Given the description of an element on the screen output the (x, y) to click on. 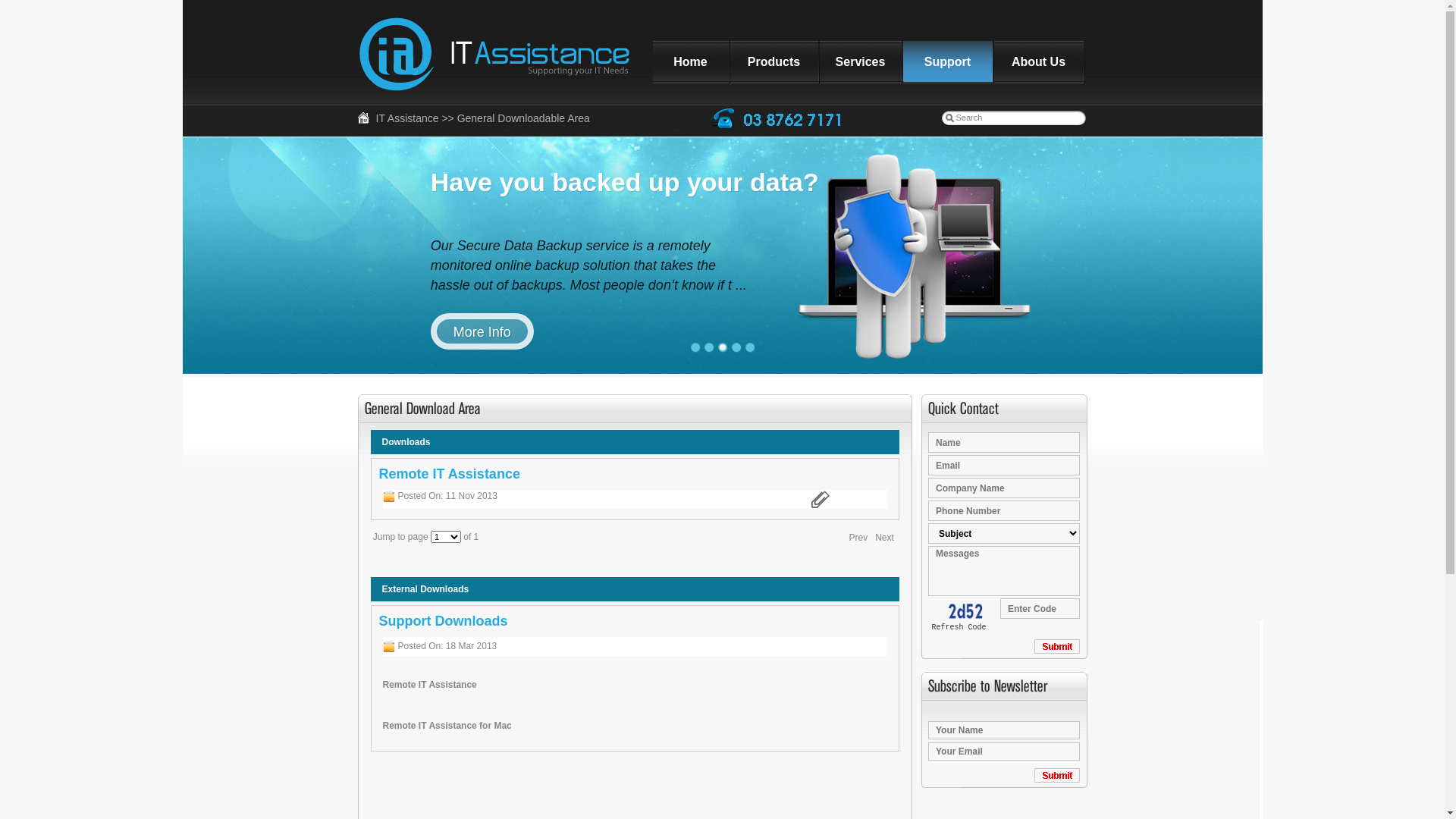
Remote IT Assistance Element type: text (429, 684)
Services Element type: text (859, 61)
Refresh Code Element type: text (958, 627)
About Us Element type: text (1037, 61)
Support Element type: text (946, 61)
Remote IT Assistance for Mac Element type: text (446, 725)
General Downloadable Area Element type: text (523, 118)
More Info Element type: text (481, 331)
IT Assistance Element type: text (407, 118)
Home Element type: text (690, 61)
Products Element type: text (773, 61)
